Given the description of an element on the screen output the (x, y) to click on. 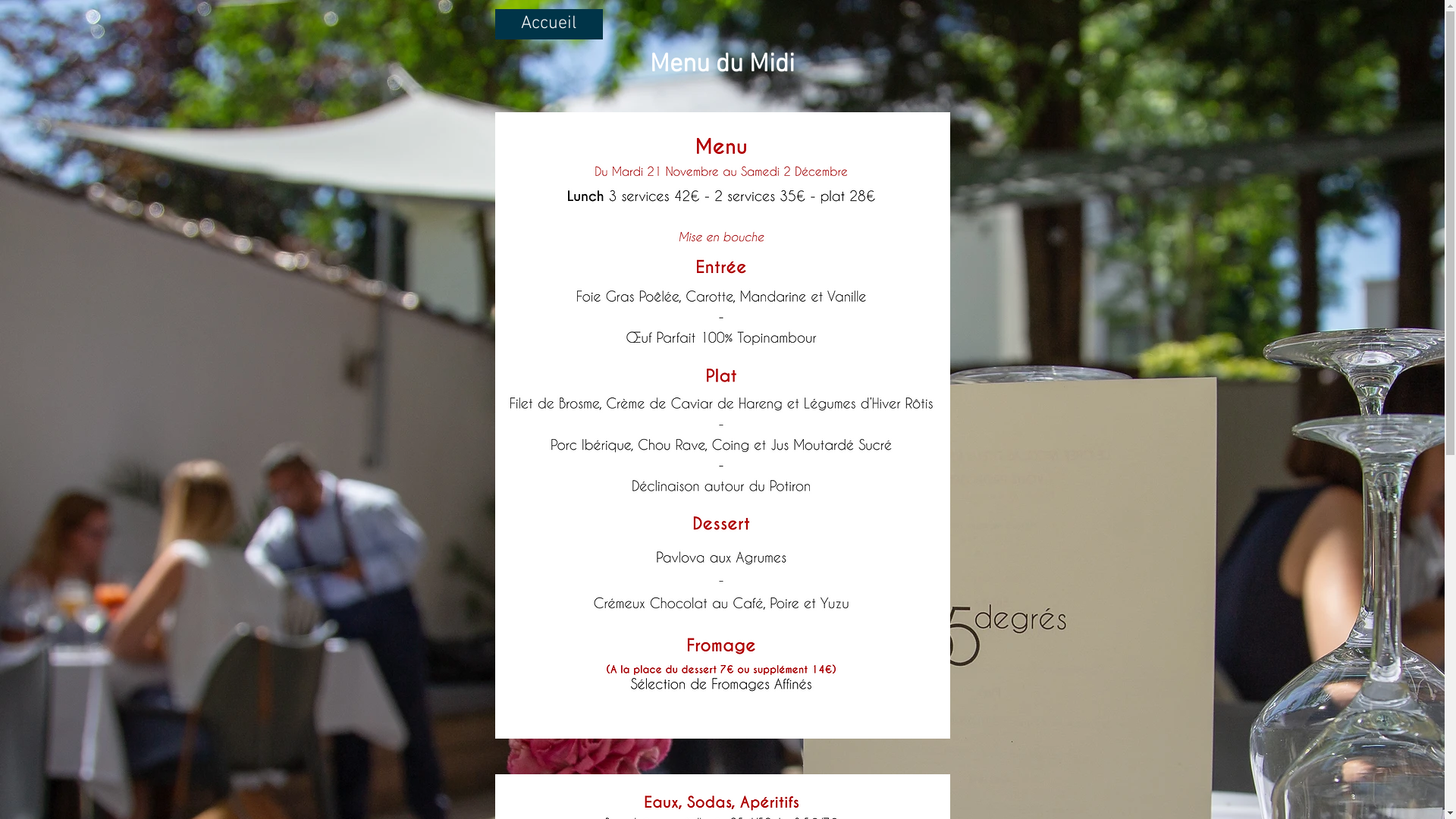
Accueil Element type: text (548, 24)
